Given the description of an element on the screen output the (x, y) to click on. 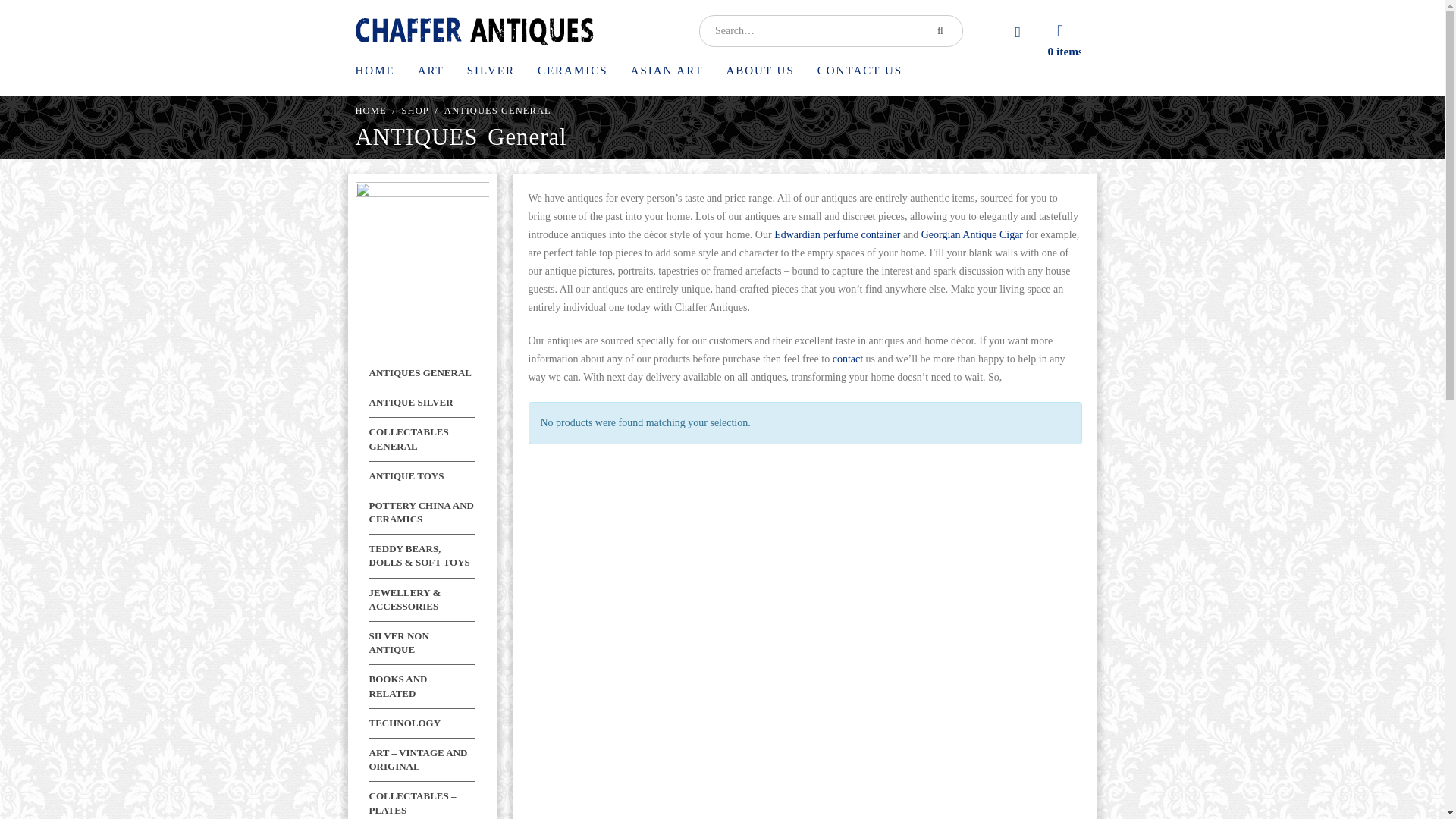
ANTIQUE TOYS (406, 475)
CERAMICS (572, 73)
HOME (370, 110)
contact (847, 358)
SILVER (491, 73)
COLLECTABLES GENERAL (408, 438)
ANTIQUES GENERAL (419, 372)
ABOUT US (759, 73)
POTTERY CHINA AND CERAMICS (420, 511)
SILVER NON ANTIQUE (398, 642)
Chaffer Antiques -  (473, 30)
ANTIQUE SILVER (410, 401)
Search (942, 30)
BOOKS AND RELATED (397, 685)
CONTACT US (859, 73)
